Given the description of an element on the screen output the (x, y) to click on. 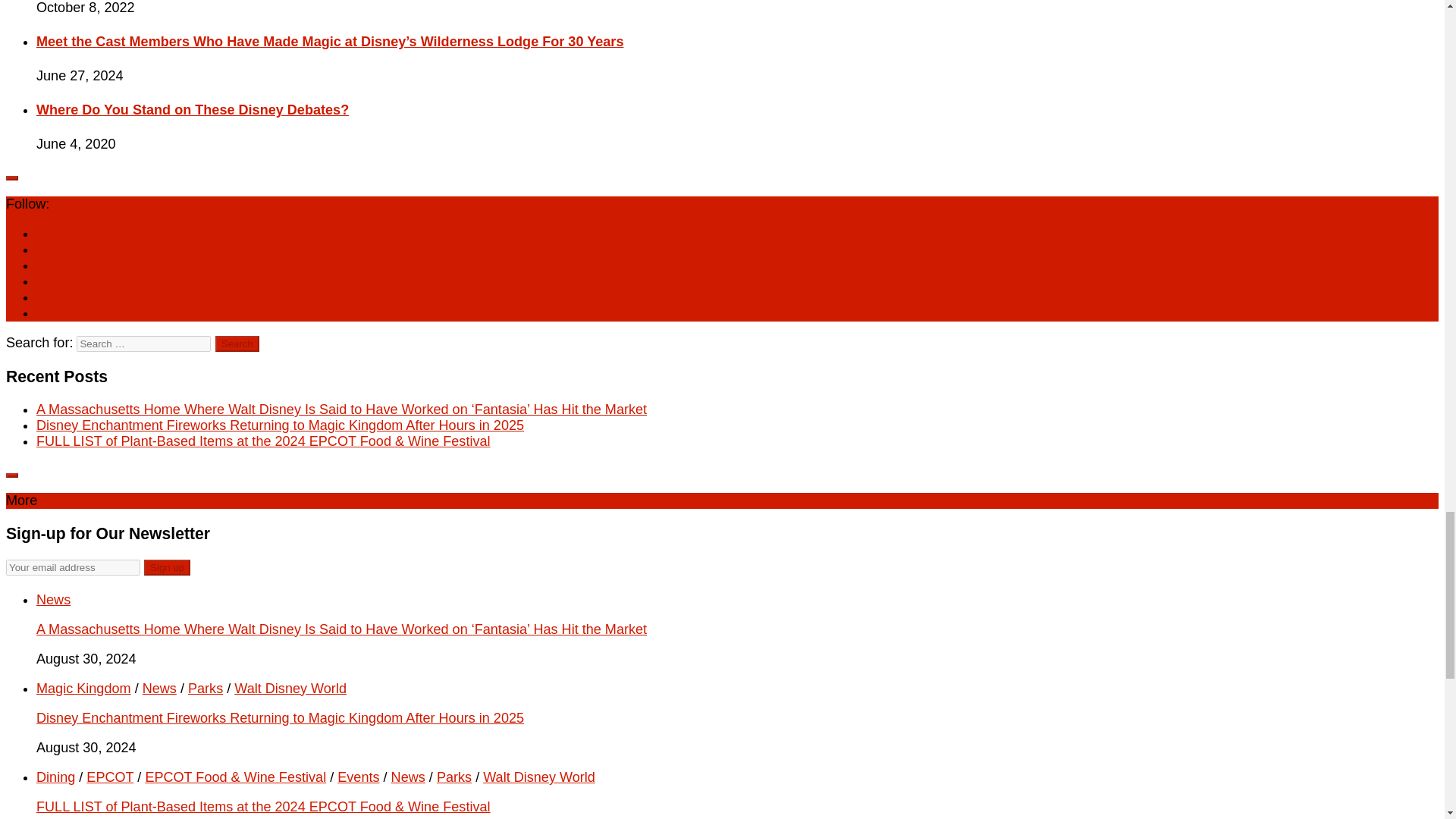
Search (237, 343)
Expand Sidebar (11, 178)
Search (237, 343)
Sign up (167, 567)
Expand Sidebar (11, 475)
